Given the description of an element on the screen output the (x, y) to click on. 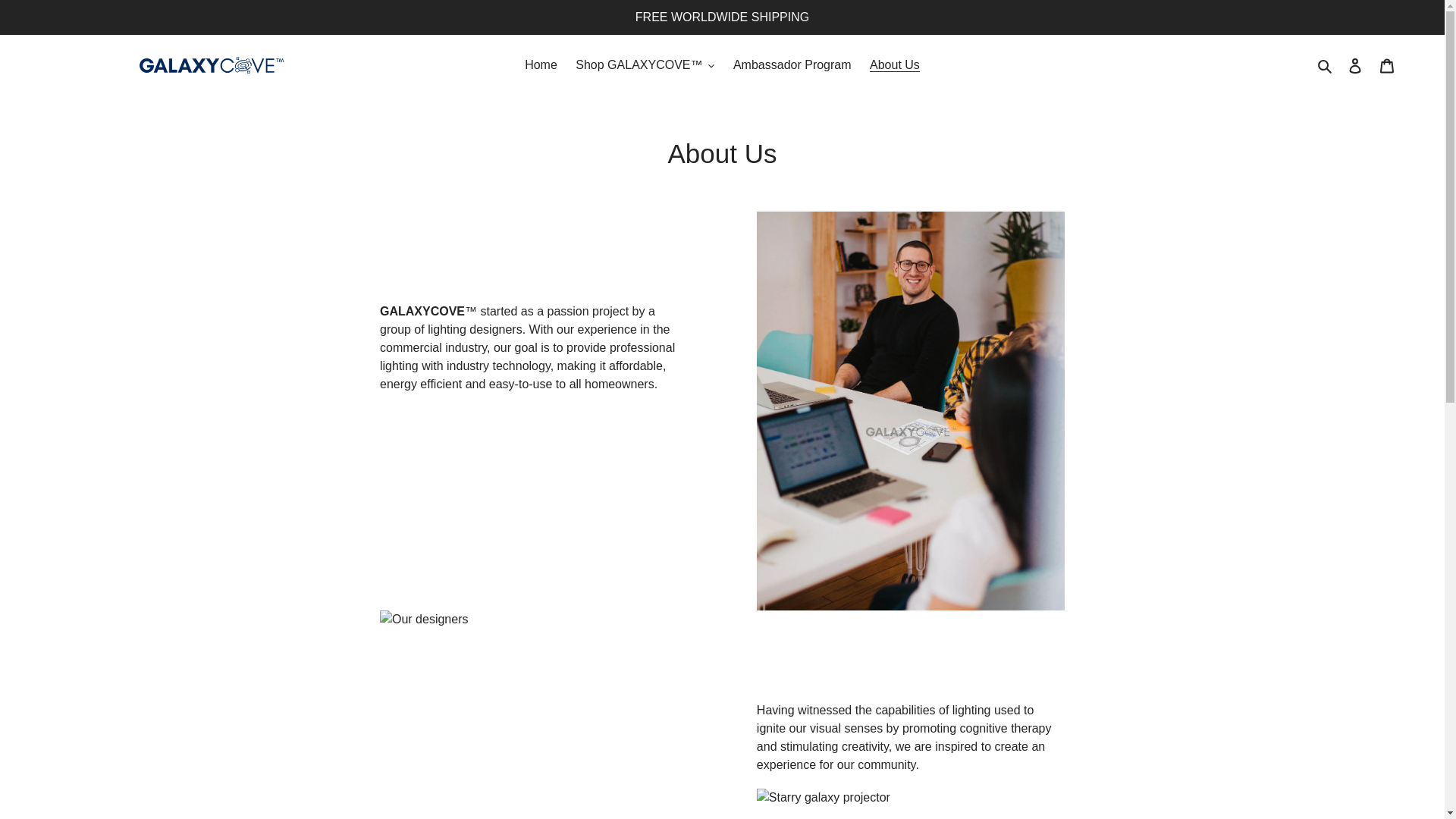
Ambassador Program (792, 65)
Cart (1387, 64)
About Us (894, 65)
Log in (1355, 64)
Home (540, 65)
Search (1326, 65)
